Given the description of an element on the screen output the (x, y) to click on. 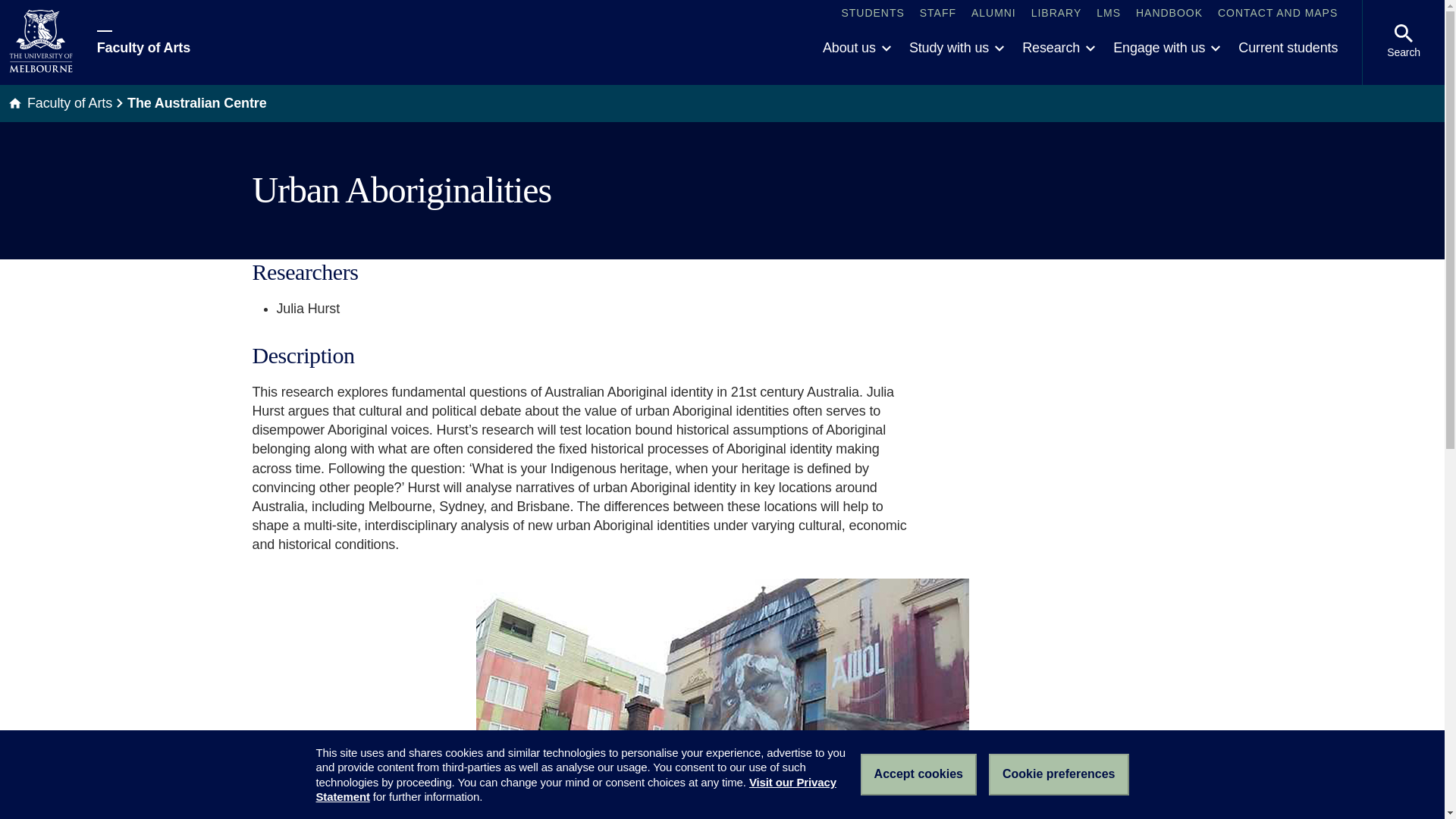
LIBRARY (1055, 13)
Faculty of Arts (143, 42)
Study with us (956, 48)
HANDBOOK (1168, 13)
ALUMNI (993, 13)
About us (856, 48)
STAFF (938, 13)
LMS (1108, 13)
STUDENTS (872, 13)
CONTACT AND MAPS (1277, 13)
